Given the description of an element on the screen output the (x, y) to click on. 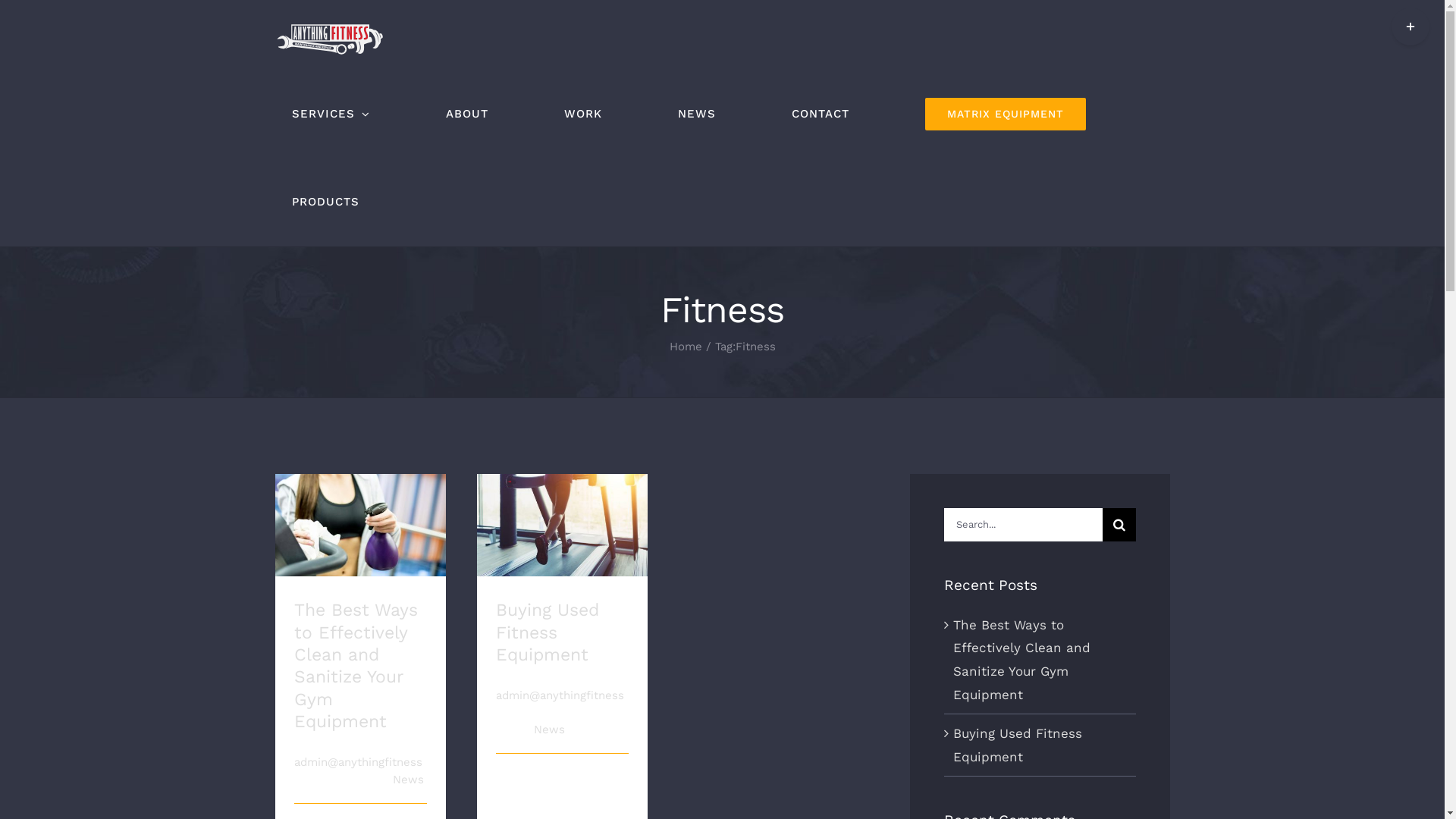
News Element type: text (407, 779)
MATRIX EQUIPMENT Element type: text (1005, 114)
WORK Element type: text (582, 114)
ABOUT Element type: text (467, 114)
Toggle Sliding Bar Area Element type: text (1410, 26)
NEWS Element type: text (696, 114)
Buying Used Fitness Equipment Element type: text (547, 632)
PRODUCTS Element type: text (324, 202)
Home Element type: text (684, 346)
CONTACT Element type: text (820, 114)
SERVICES Element type: text (329, 114)
Buying Used Fitness Equipment Element type: text (1017, 744)
News Element type: text (548, 729)
admin@anythingfitness Element type: text (559, 695)
admin@anythingfitness Element type: text (358, 761)
